Given the description of an element on the screen output the (x, y) to click on. 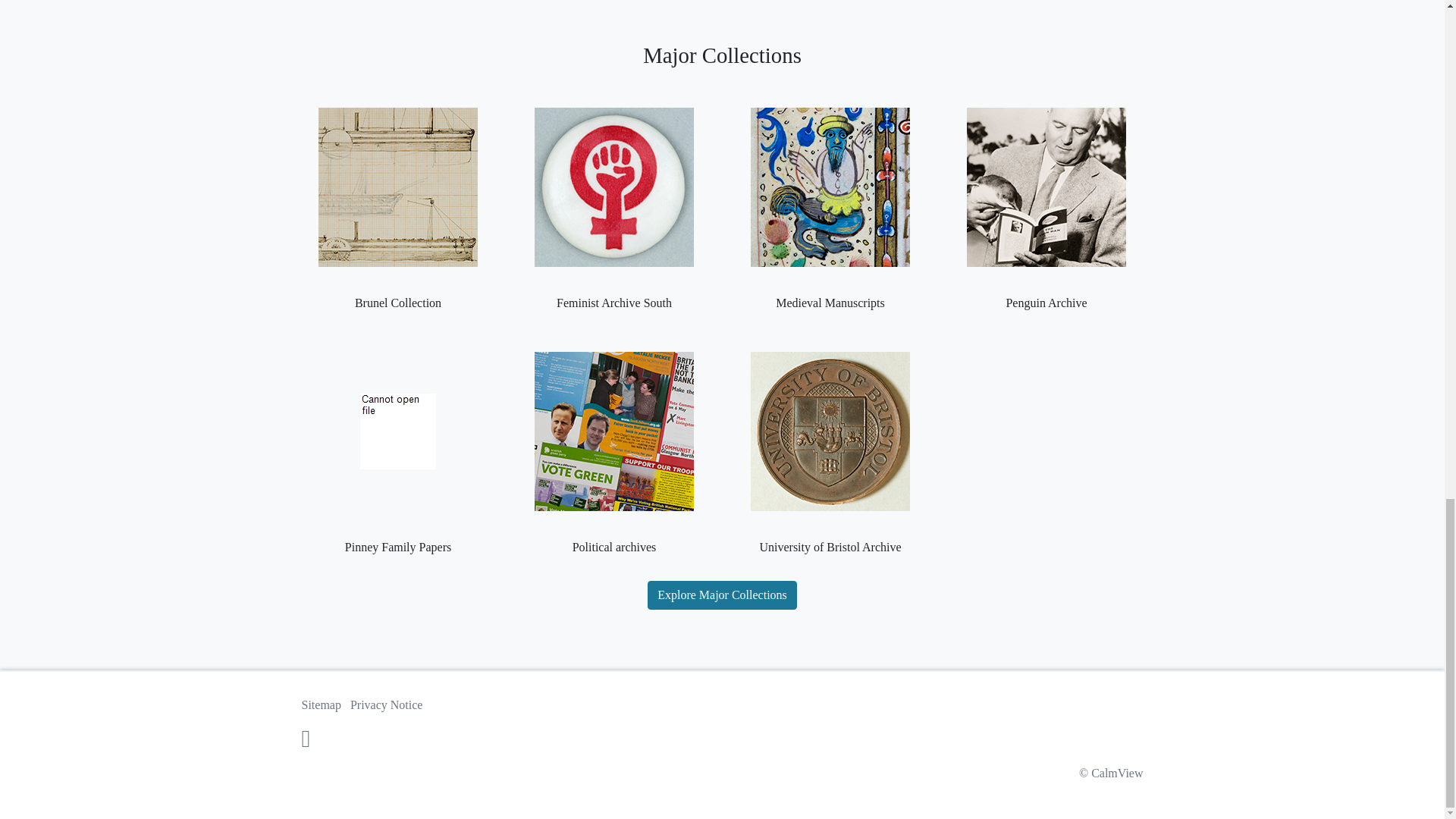
Explore Major Collections (721, 594)
Privacy Notice (386, 704)
Sitemap (320, 704)
